Given the description of an element on the screen output the (x, y) to click on. 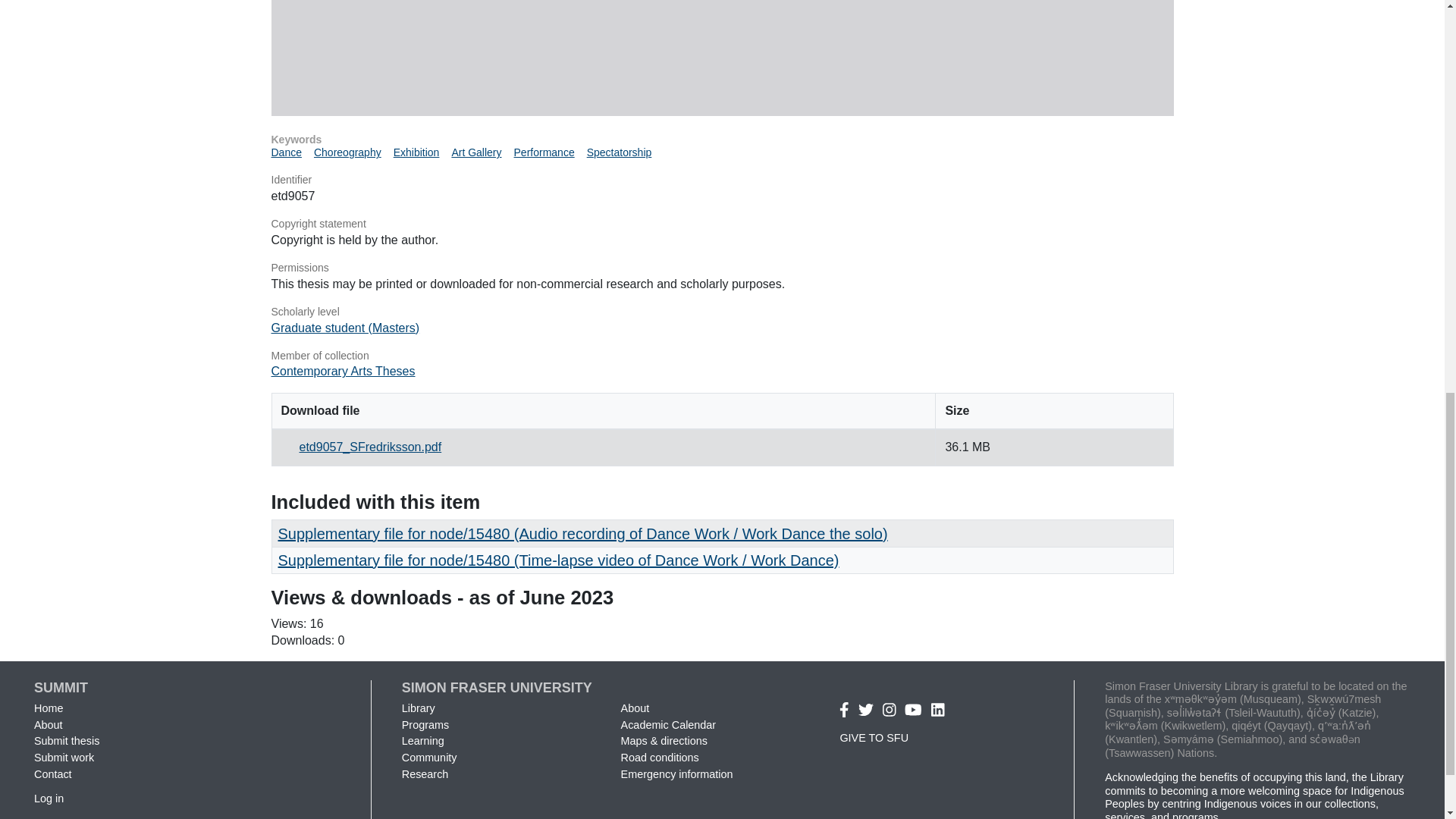
Spectatorship (619, 152)
Dance (285, 152)
Submit work (63, 757)
Contact (52, 774)
Contemporary Arts Theses (342, 370)
Copyright statement (721, 224)
Performance (544, 152)
Exhibition (416, 152)
Home (47, 707)
Scholarly level (721, 312)
